Given the description of an element on the screen output the (x, y) to click on. 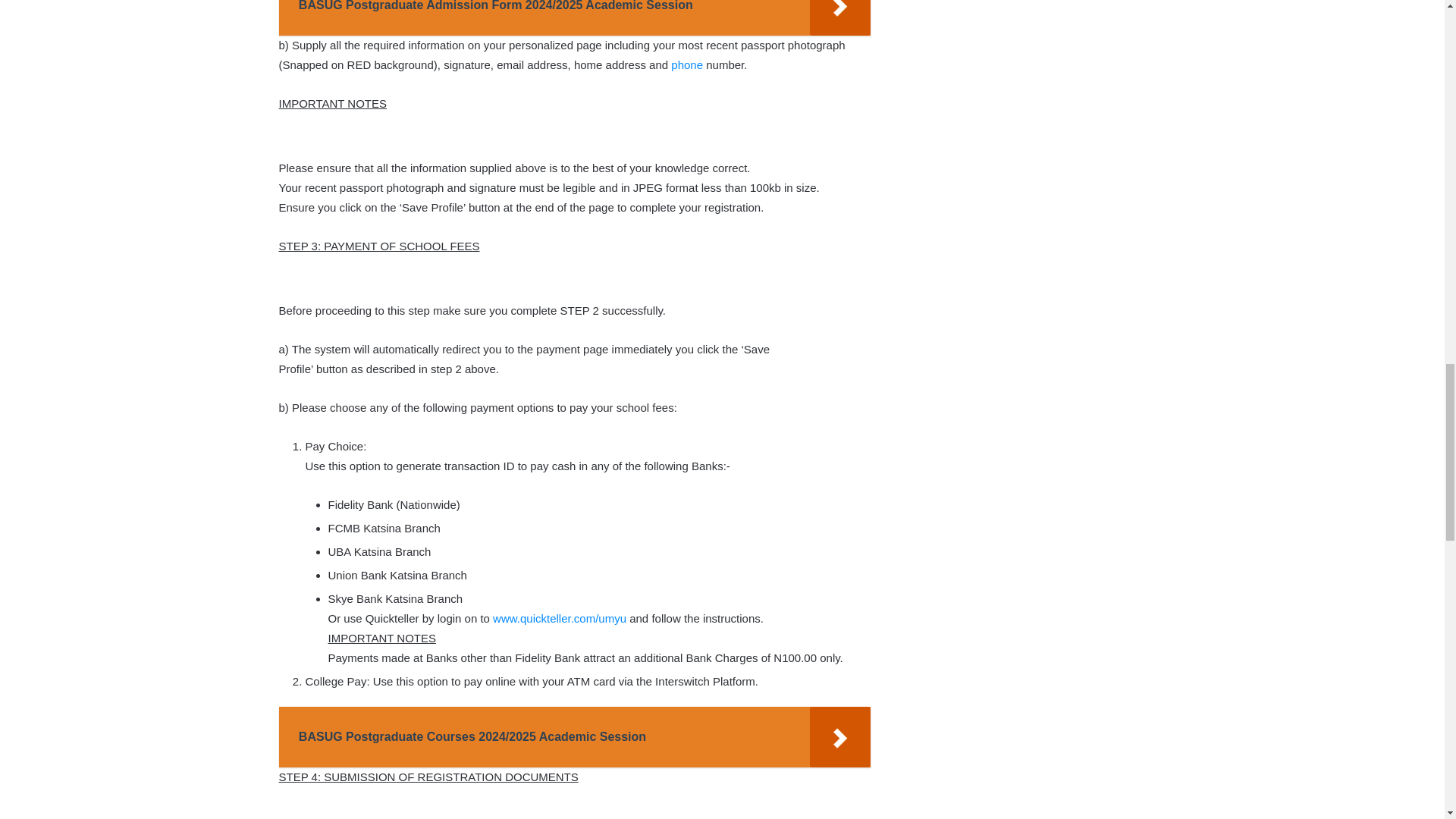
phone (687, 64)
